Given the description of an element on the screen output the (x, y) to click on. 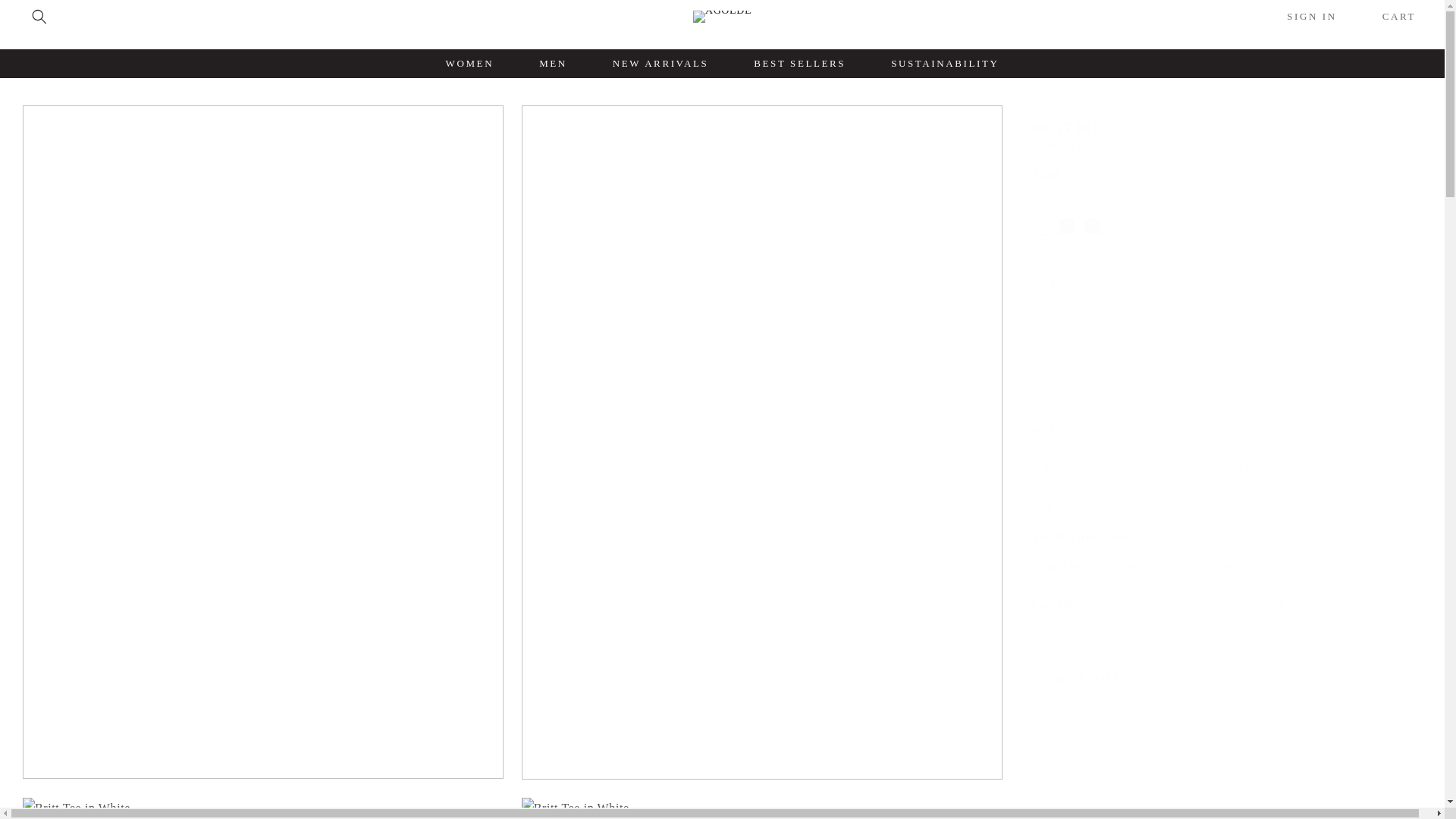
Skip to content (46, 18)
Open media 4 in modal (762, 808)
Open media 3 in modal (263, 808)
